Given the description of an element on the screen output the (x, y) to click on. 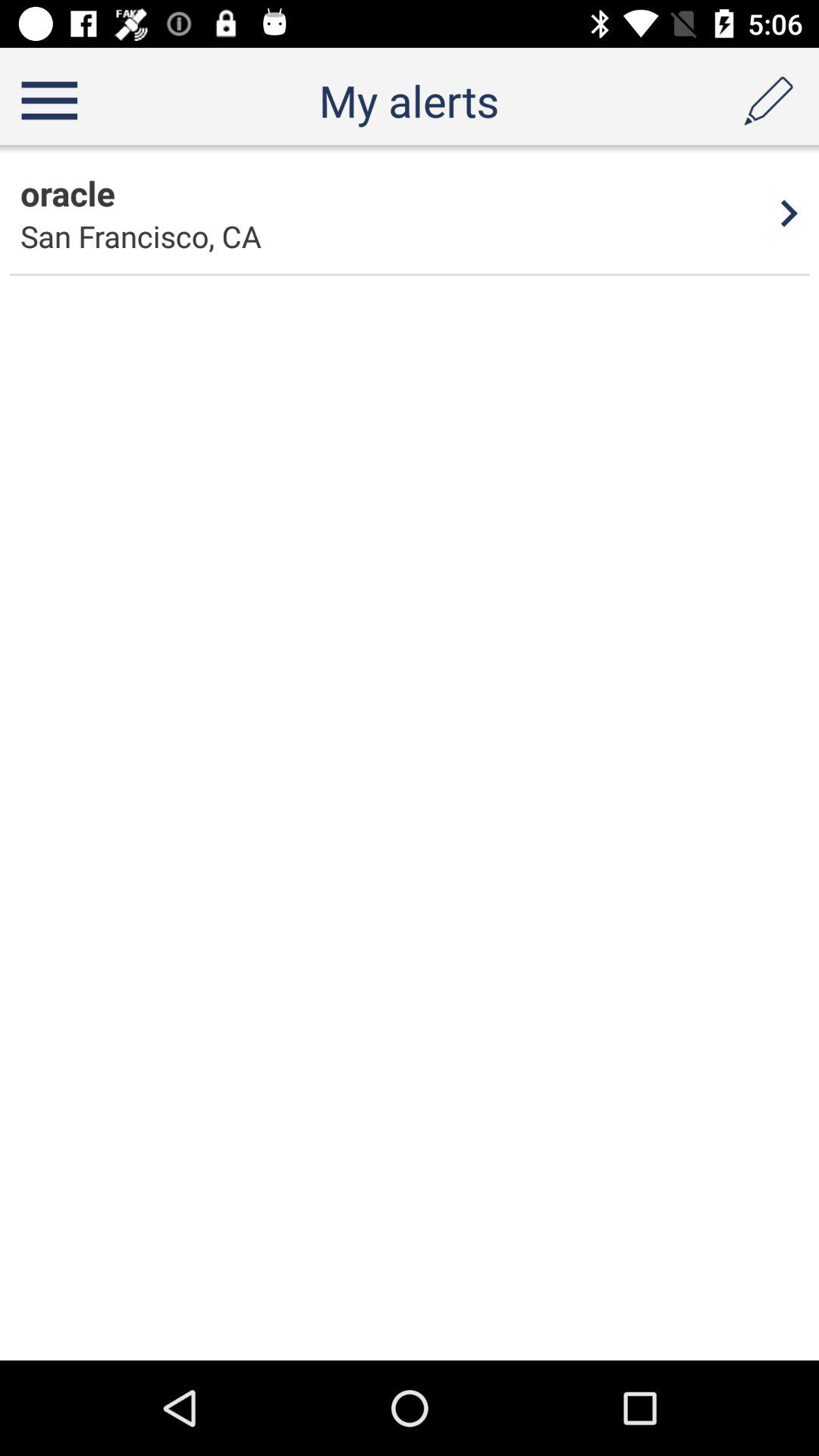
flip until oracle icon (67, 193)
